Given the description of an element on the screen output the (x, y) to click on. 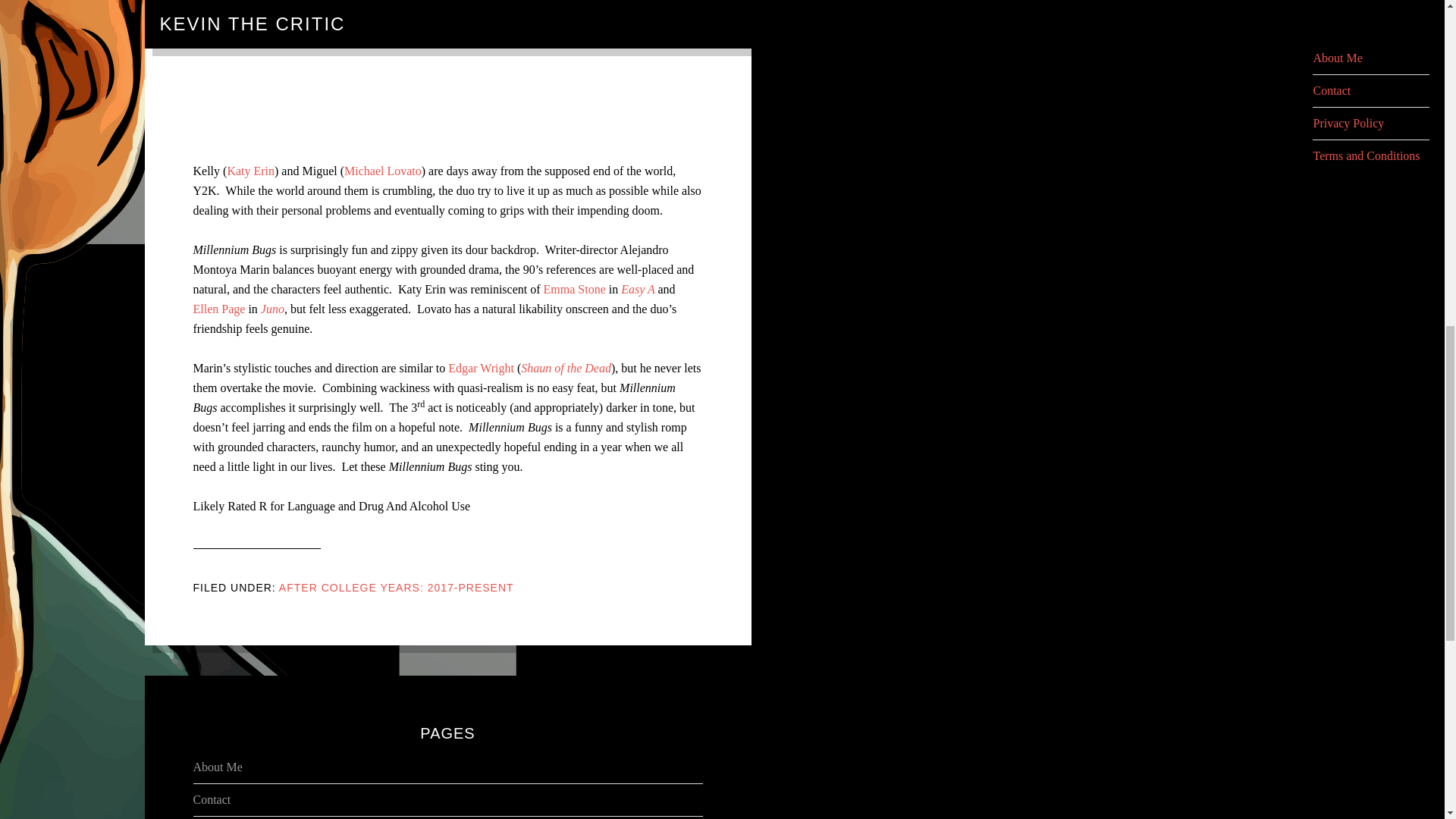
Contact (211, 799)
Emma Stone (574, 288)
Easy A (639, 288)
About Me (216, 766)
Juno (271, 308)
Michael Lovato (382, 170)
Katy Erin (251, 170)
AFTER COLLEGE YEARS: 2017-PRESENT (396, 587)
Edgar Wright (480, 367)
Ellen Page (218, 308)
Shaun of the Dead (566, 367)
